Given the description of an element on the screen output the (x, y) to click on. 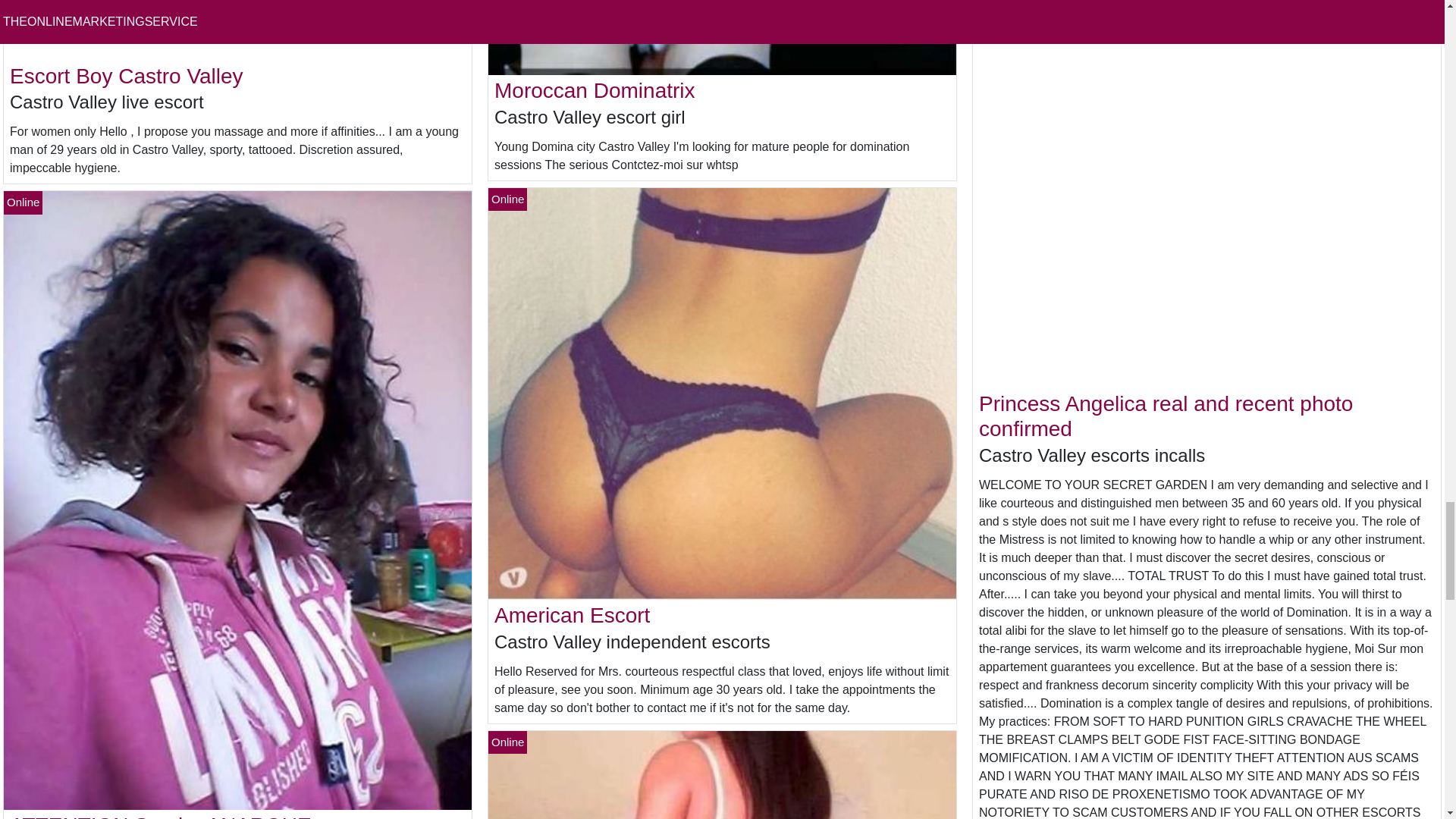
Escort Boy Castro Valley (126, 75)
Moroccan Dominatrix (595, 90)
American Escort (572, 615)
ATTENTION Samira ANARQUE (160, 816)
